Given the description of an element on the screen output the (x, y) to click on. 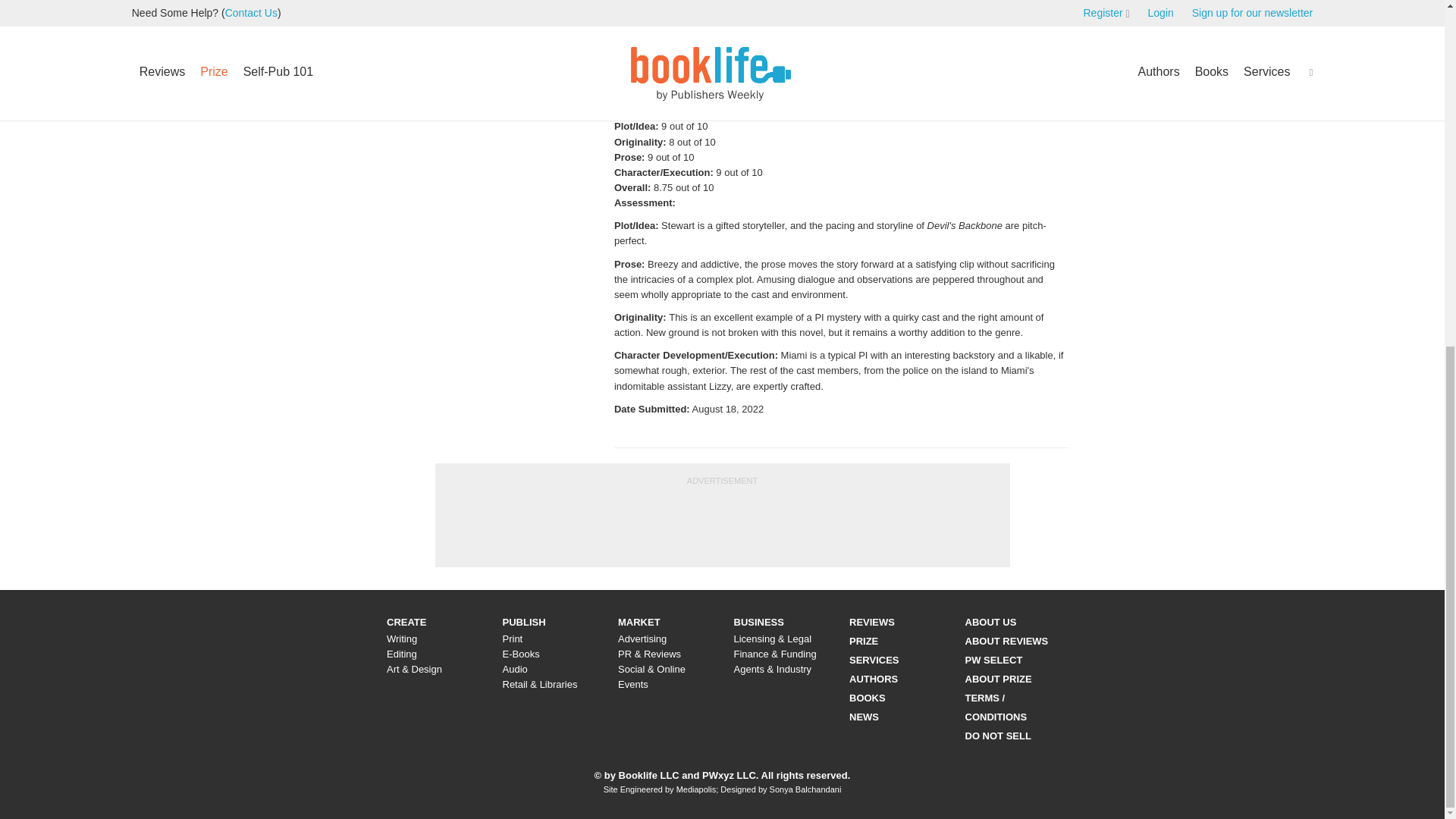
PUBLISH (523, 622)
3rd party ad content (721, 521)
Audio (514, 668)
CREATE (406, 622)
3rd party ad content (1323, 113)
BUSINESS (758, 622)
Writing (401, 638)
MARKET (639, 622)
Events (632, 684)
Editing (401, 654)
Advertising (641, 638)
E-Books (520, 654)
Print (512, 638)
